Given the description of an element on the screen output the (x, y) to click on. 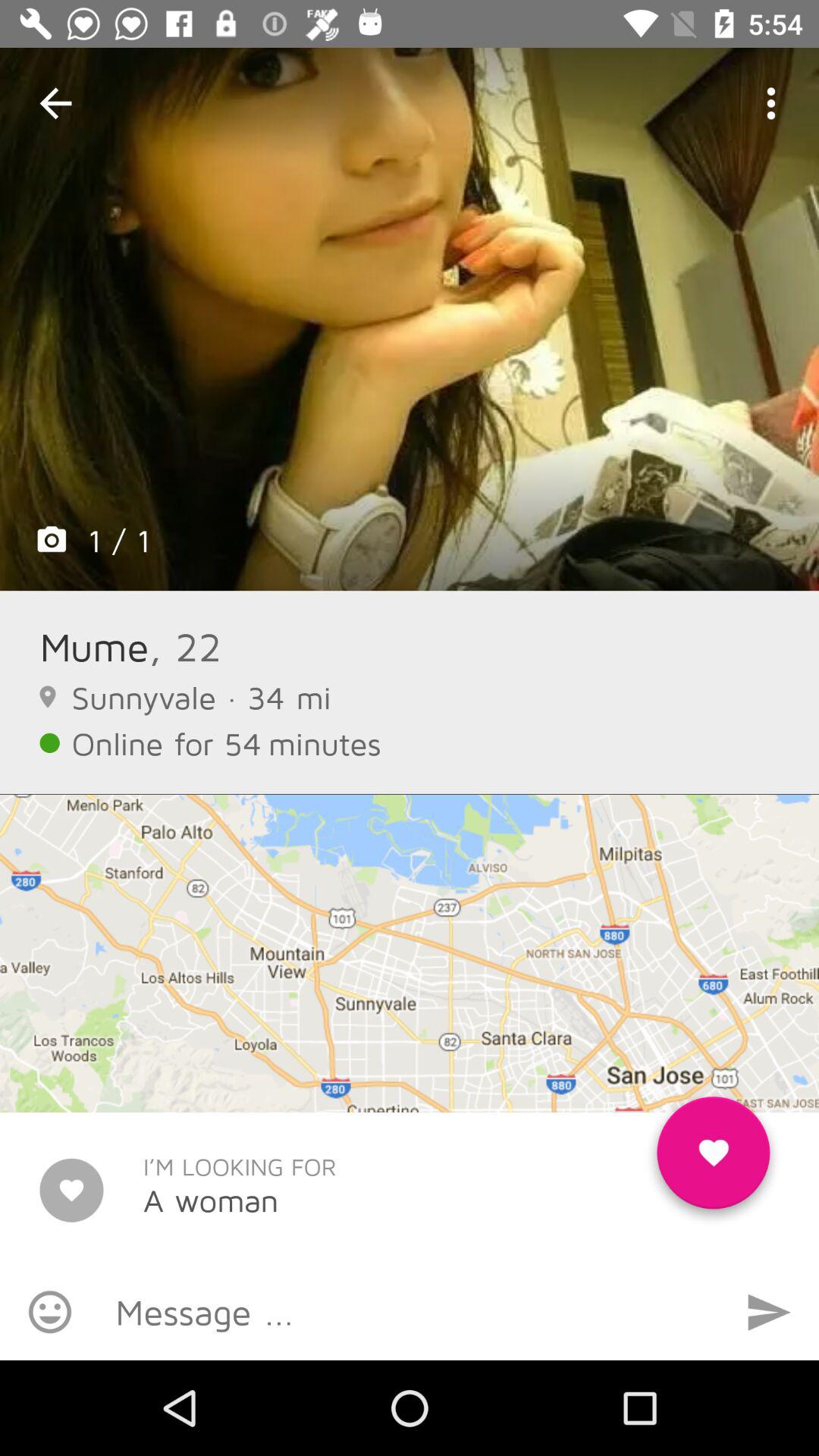
click the icon above mume item (409, 318)
